Given the description of an element on the screen output the (x, y) to click on. 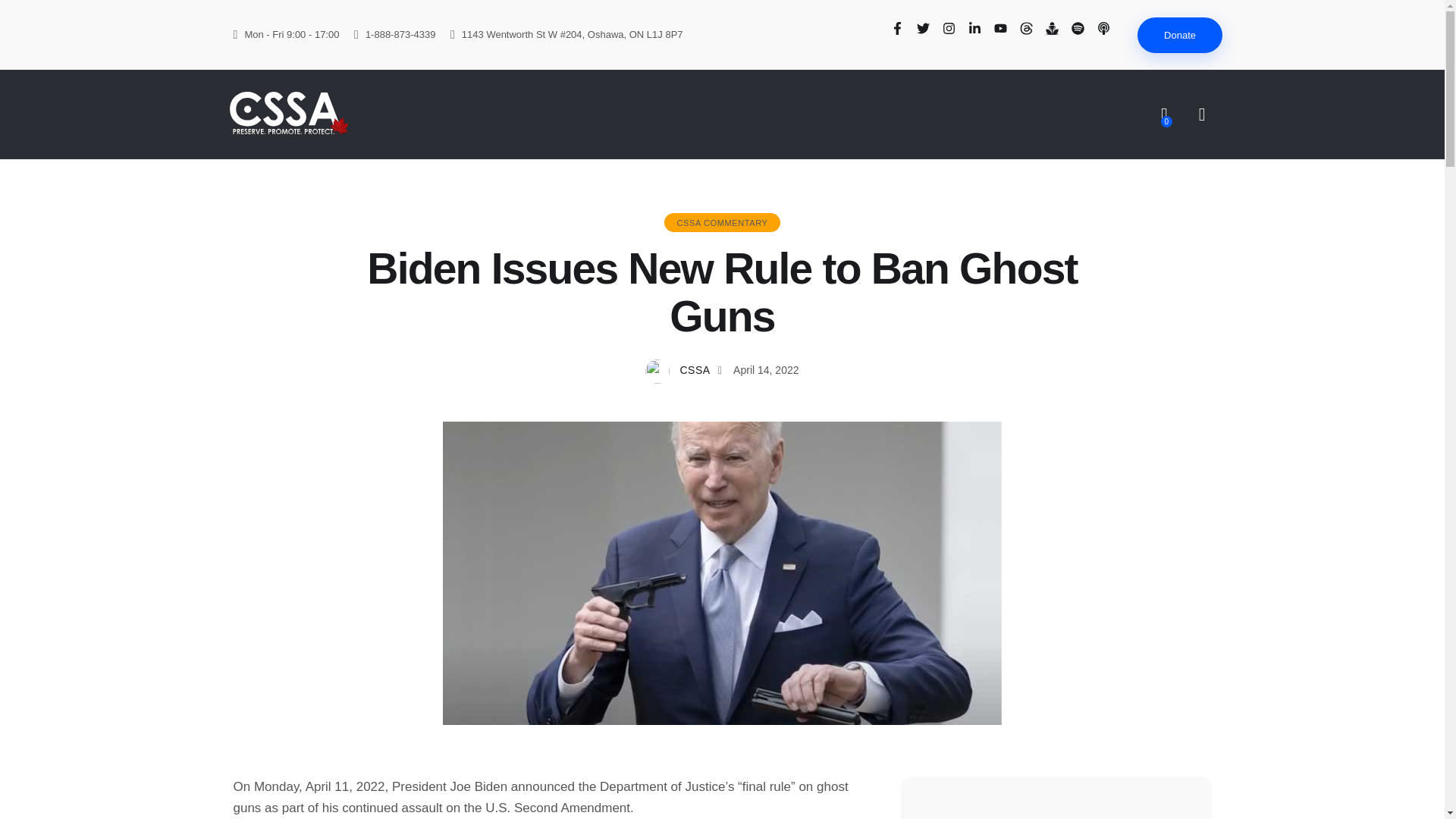
1-888-873-4339 (394, 34)
Donate (1180, 35)
